Given the description of an element on the screen output the (x, y) to click on. 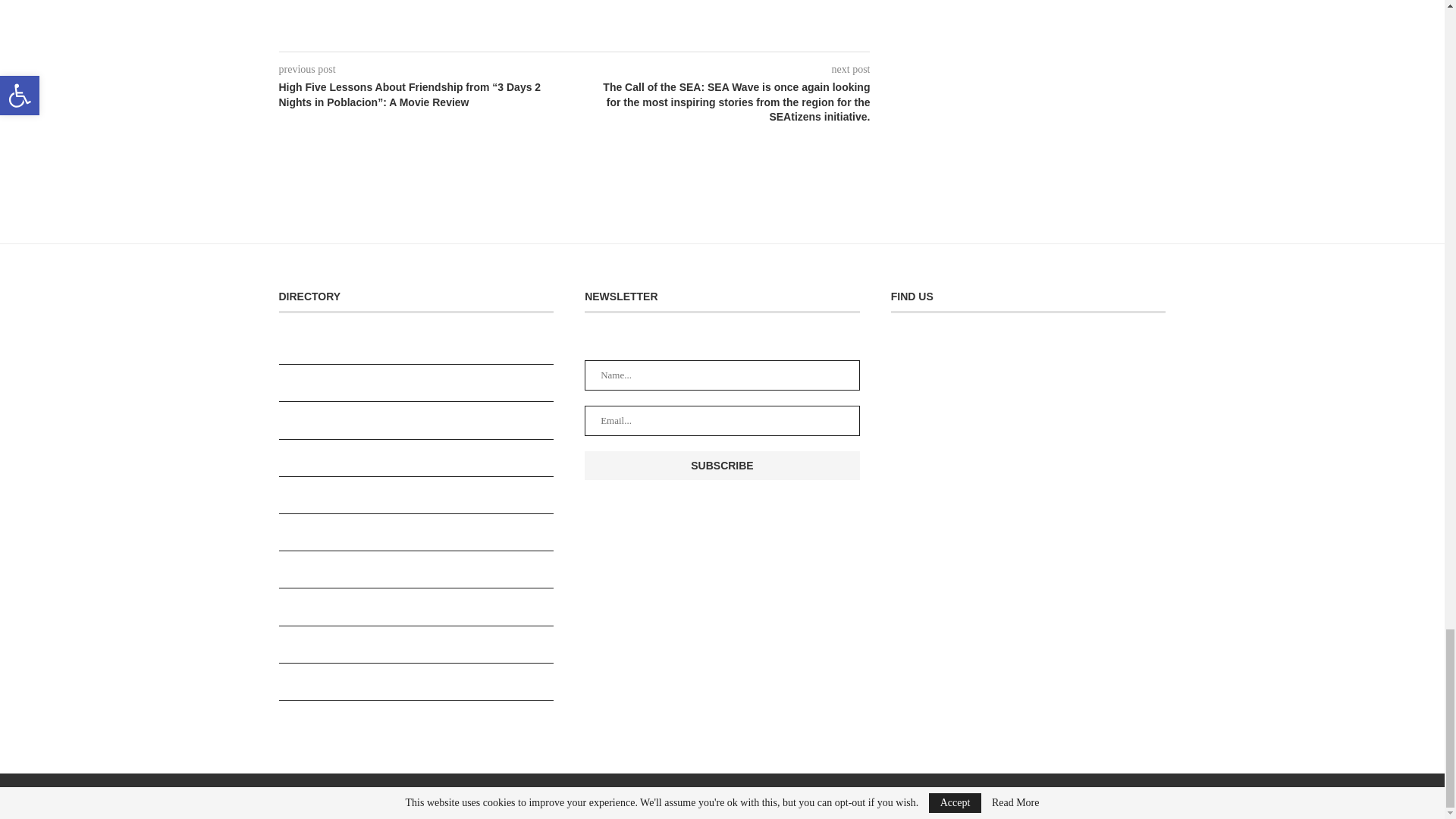
Subscribe (722, 465)
